Given the description of an element on the screen output the (x, y) to click on. 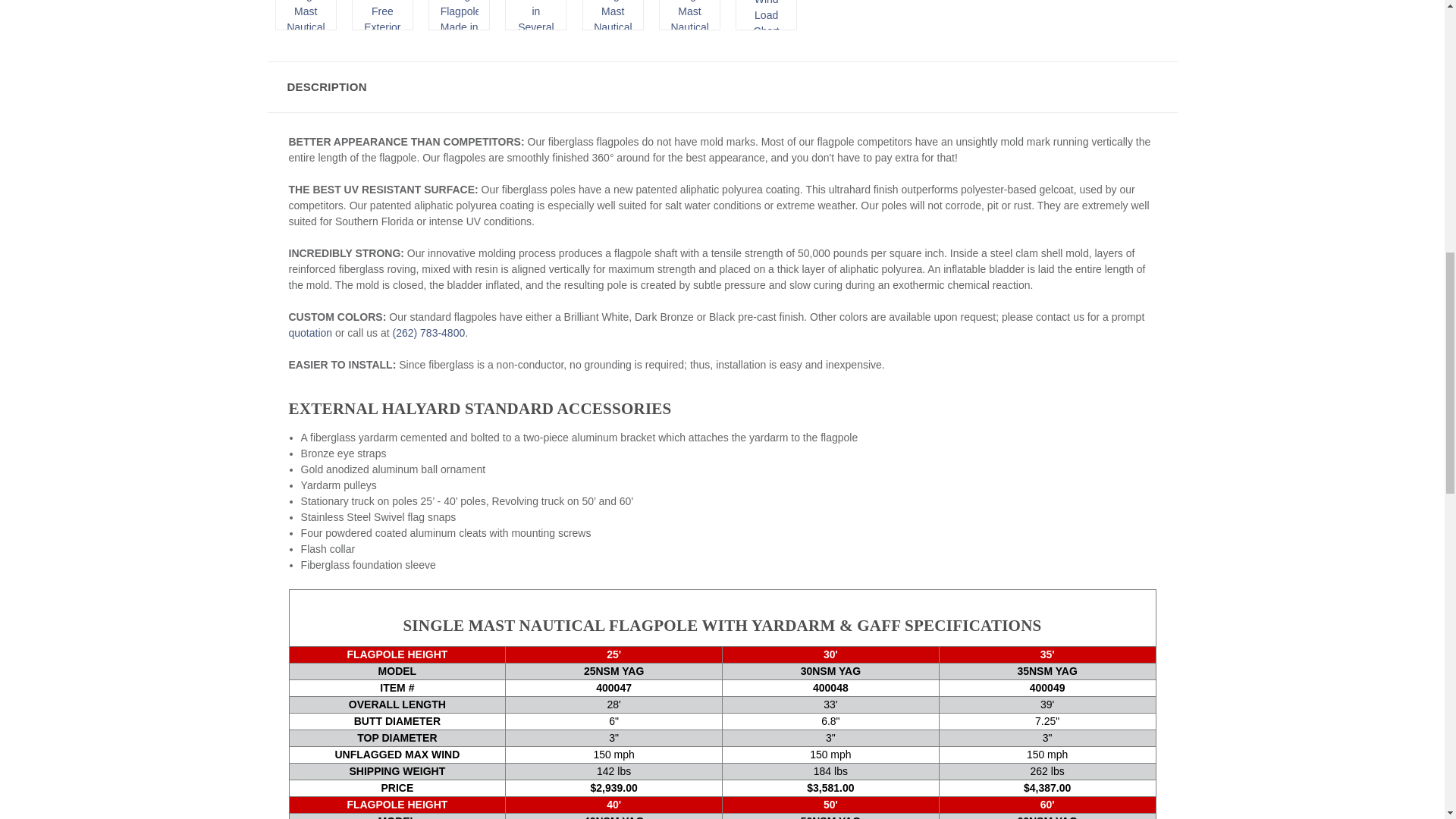
Flagpole Quote (309, 332)
Single Mast Nautical Flagpole (612, 14)
Single Mast Nautical Flagpole (688, 14)
Seam Free Exterior (381, 14)
US Wind Load Chart (767, 14)
Available in Several Colors (535, 14)
Fiberglass Flagpoles Made in the USA (460, 14)
Call for Quotation (427, 332)
